Given the description of an element on the screen output the (x, y) to click on. 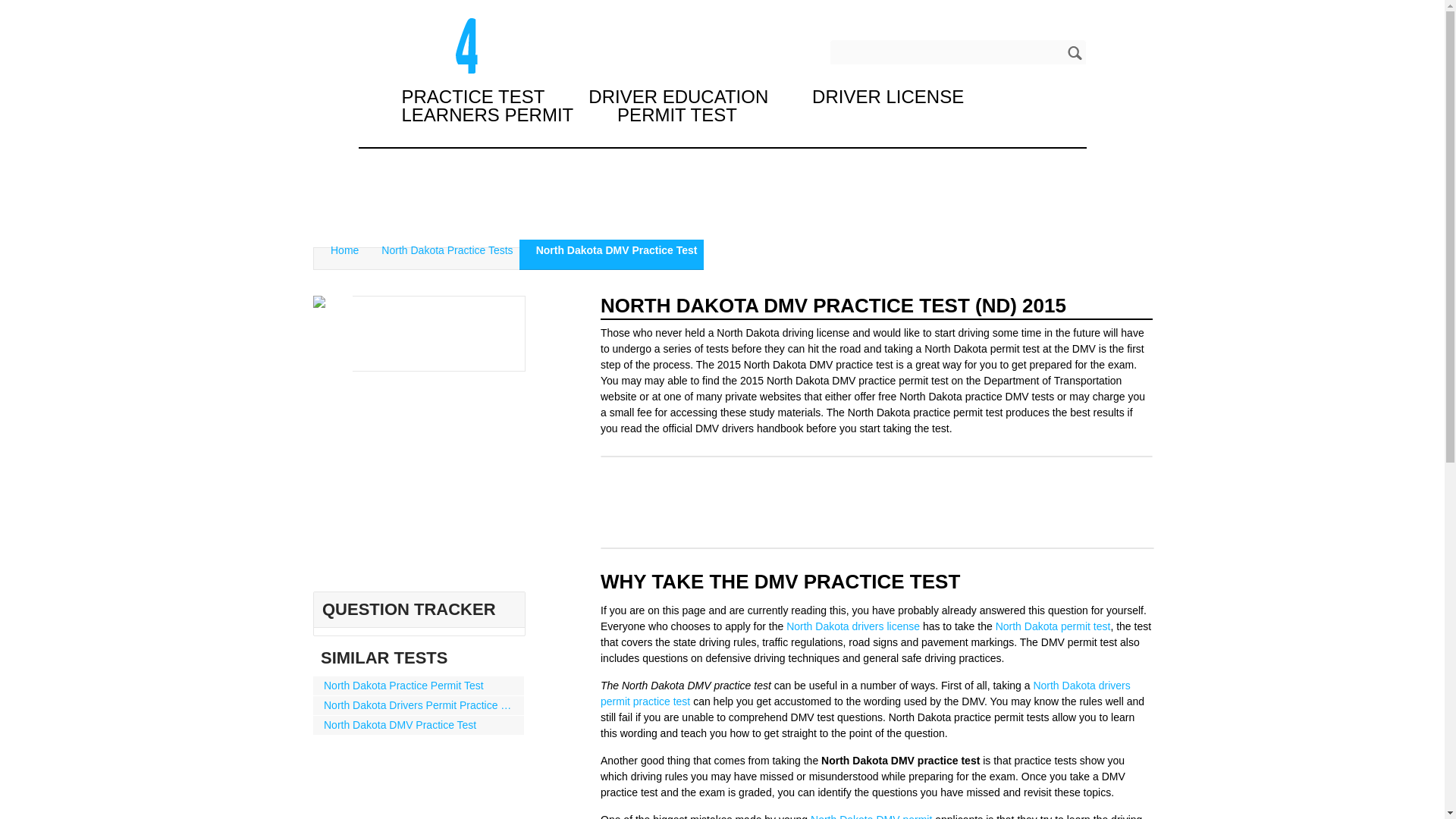
Drivers Education (678, 96)
North Dakota Permit Test (1052, 625)
North Dakota Drivers Permit Practice Test (418, 705)
North Dakota drivers license (853, 625)
DRIVER EDUCATION (678, 96)
About Us (920, 9)
North Dakota Drivers Permit Practice Test (418, 705)
Practice Permit Test (473, 96)
North Dakota DMV Practice Test (611, 250)
Home (339, 250)
